Given the description of an element on the screen output the (x, y) to click on. 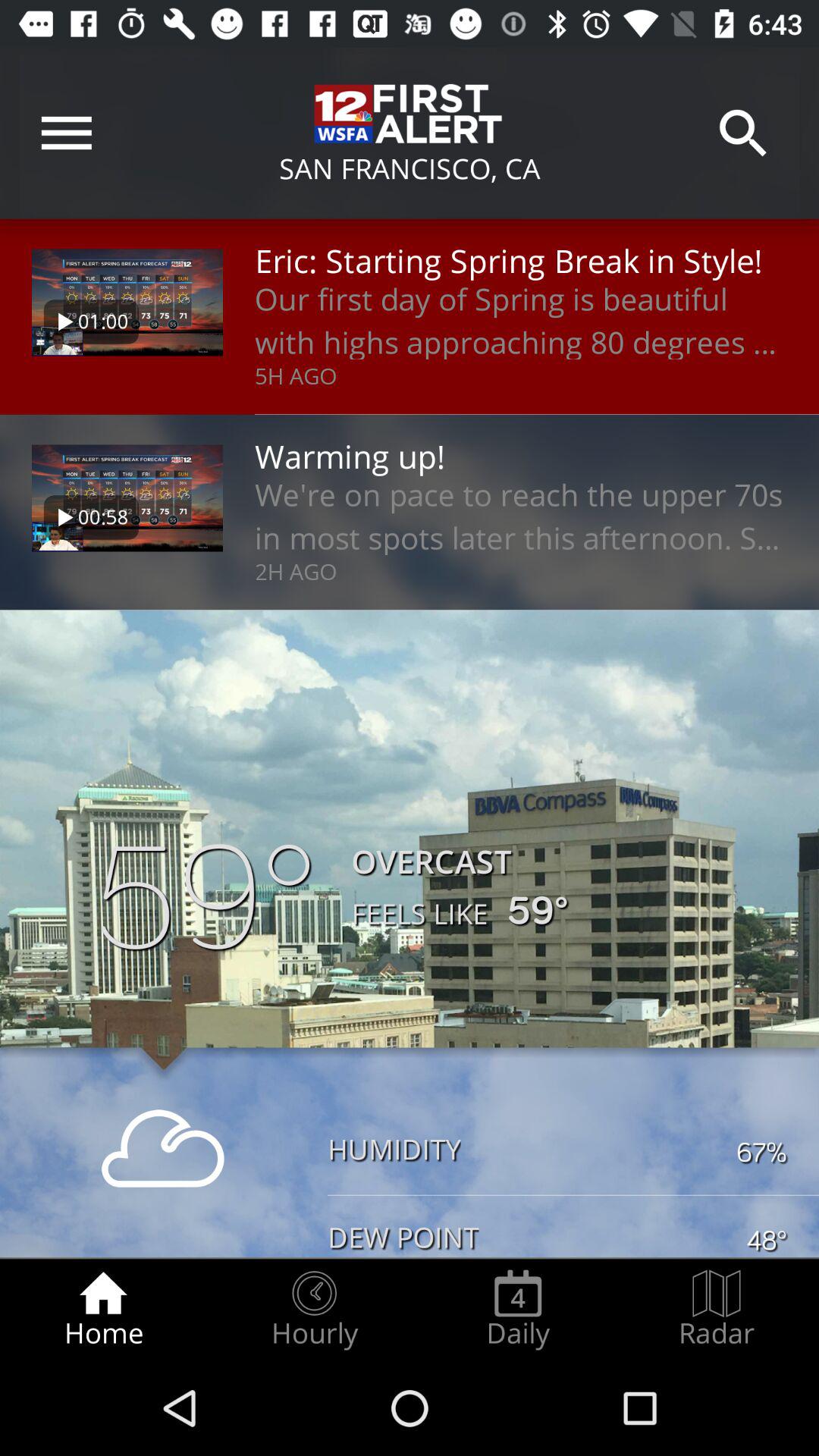
jump to the radar icon (716, 1309)
